Given the description of an element on the screen output the (x, y) to click on. 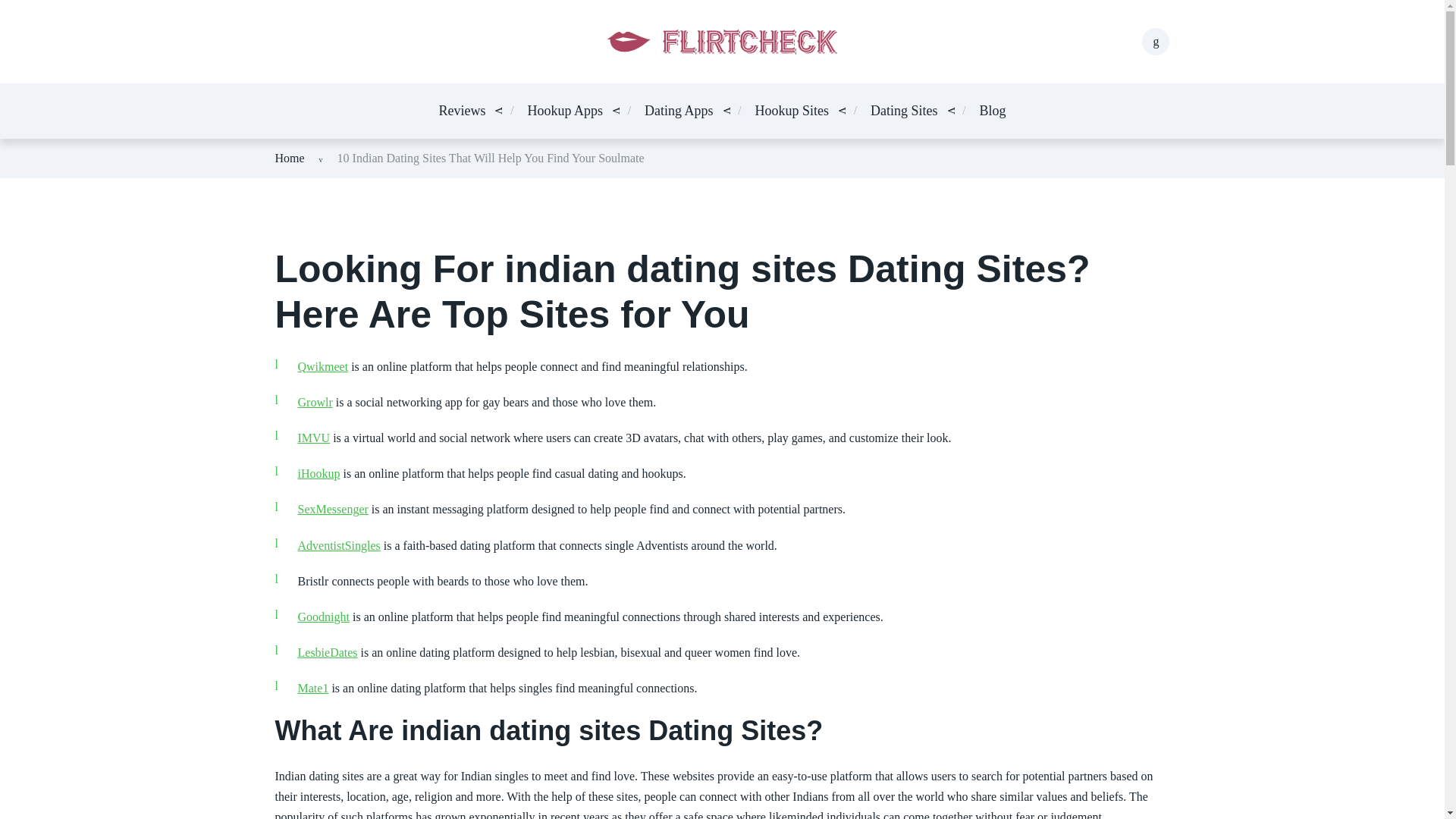
10 Indian Dating Sites That Will Help You Find Your Soulmate (491, 157)
Reviews (461, 110)
Home (289, 157)
